Given the description of an element on the screen output the (x, y) to click on. 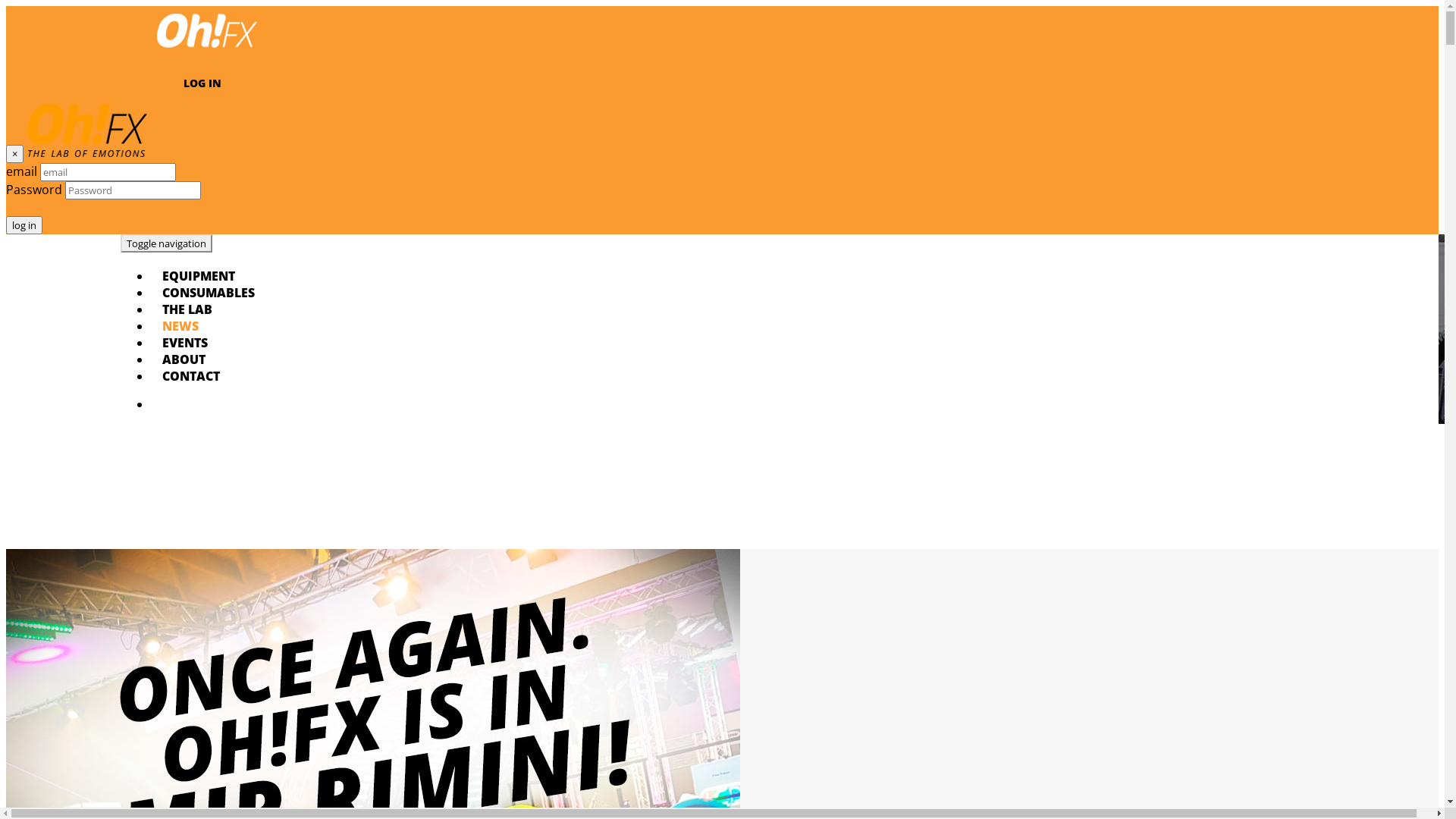
Toggle navigation Element type: text (166, 243)
log in Element type: text (24, 225)
CONTACT Element type: text (190, 375)
CONSUMABLES Element type: text (208, 292)
0 Element type: text (252, 403)
ohfx Element type: hover (206, 50)
ABOUT Element type: text (183, 359)
EVENTS Element type: text (184, 342)
THE LAB Element type: text (187, 309)
EQUIPMENT Element type: text (198, 275)
LOG IN Element type: text (202, 82)
NEWS Element type: text (180, 325)
